Given the description of an element on the screen output the (x, y) to click on. 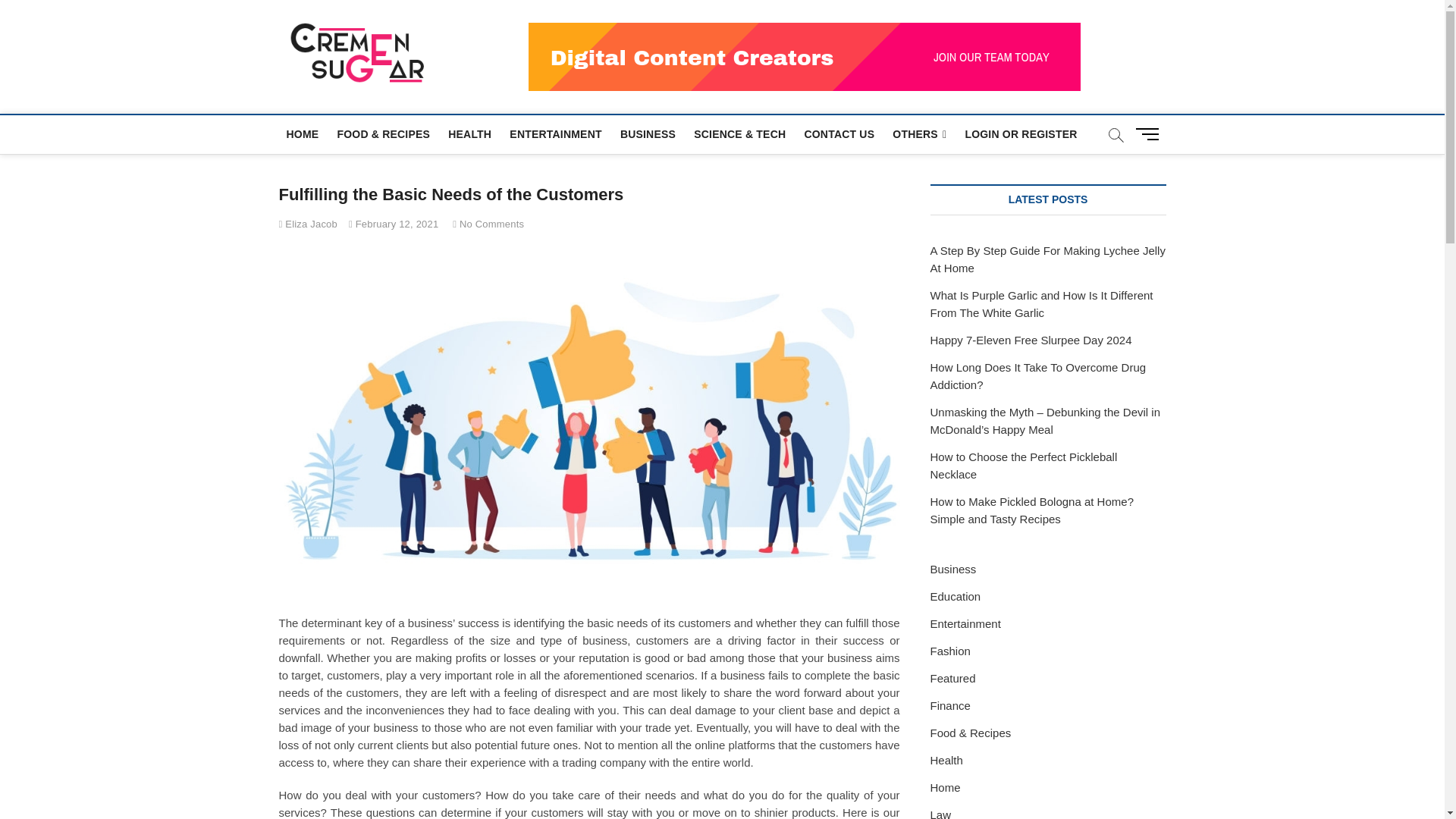
HEALTH (470, 134)
HOME (302, 134)
OTHERS (919, 134)
CONTACT US (839, 134)
Menu Button (1150, 133)
LOGIN OR REGISTER (1020, 134)
CremeNsugar (520, 50)
February 12, 2021 (393, 224)
CremeNsugar (520, 50)
ENTERTAINMENT (555, 134)
Fulfilling the Basic Needs of the Customers (308, 224)
BUSINESS (647, 134)
